Given the description of an element on the screen output the (x, y) to click on. 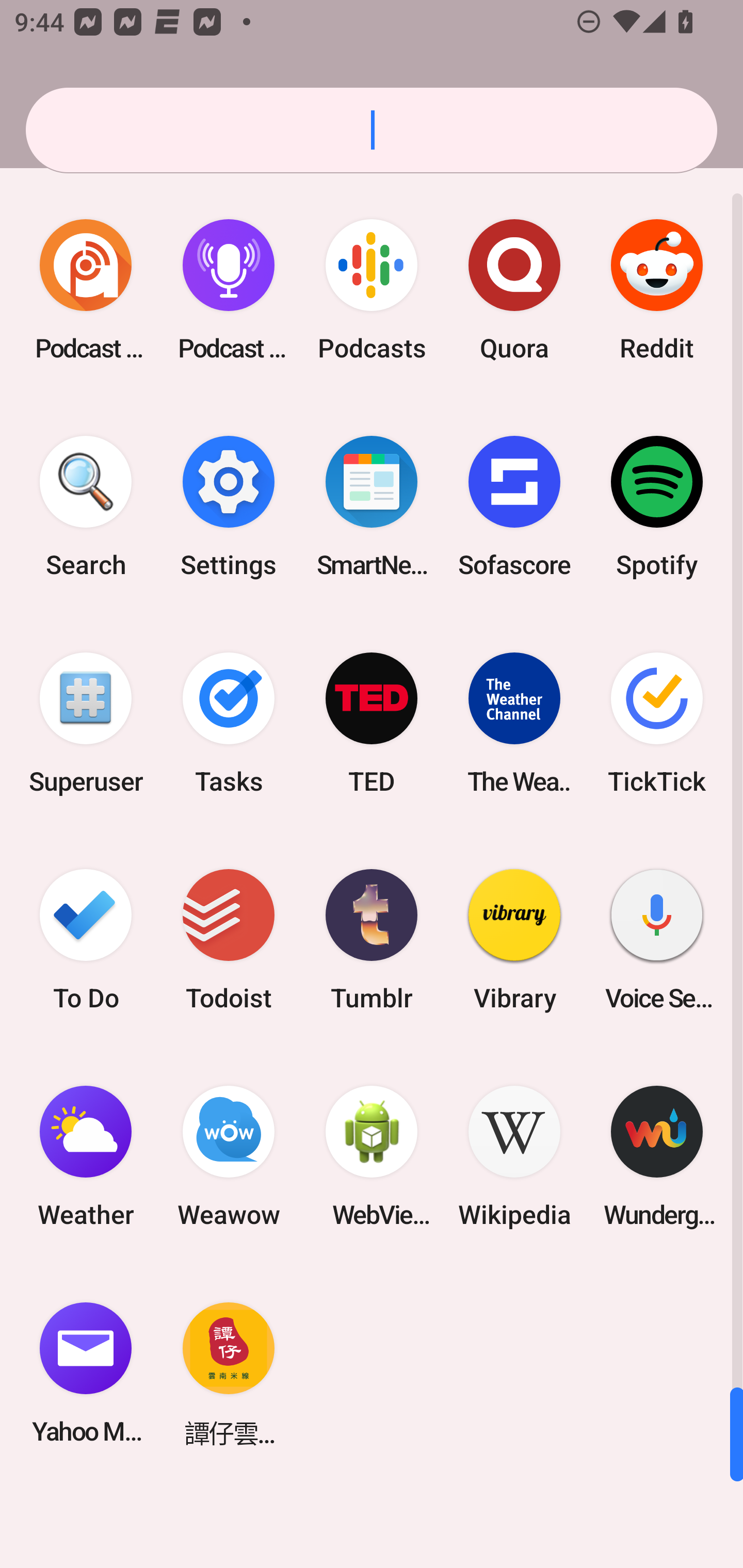
  Search apps (371, 130)
Podcast Addict (85, 289)
Podcast Player (228, 289)
Podcasts (371, 289)
Quora (514, 289)
Reddit (656, 289)
Search (85, 506)
Settings (228, 506)
SmartNews (371, 506)
Sofascore (514, 506)
Spotify (656, 506)
Superuser (85, 722)
Tasks (228, 722)
TED (371, 722)
The Weather Channel (514, 722)
TickTick (656, 722)
To Do (85, 939)
Todoist (228, 939)
Tumblr (371, 939)
Vibrary (514, 939)
Voice Search (656, 939)
Weather (85, 1156)
Weawow (228, 1156)
WebView Browser Tester (371, 1156)
Wikipedia (514, 1156)
Wunderground (656, 1156)
Yahoo Mail (85, 1373)
譚仔雲南米線 (228, 1373)
